Given the description of an element on the screen output the (x, y) to click on. 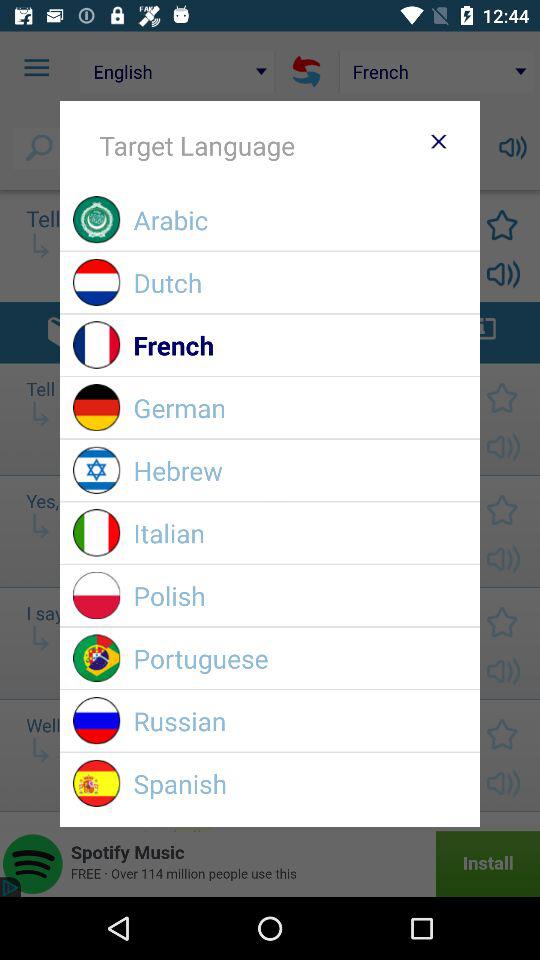
flip until the dutch (300, 282)
